Given the description of an element on the screen output the (x, y) to click on. 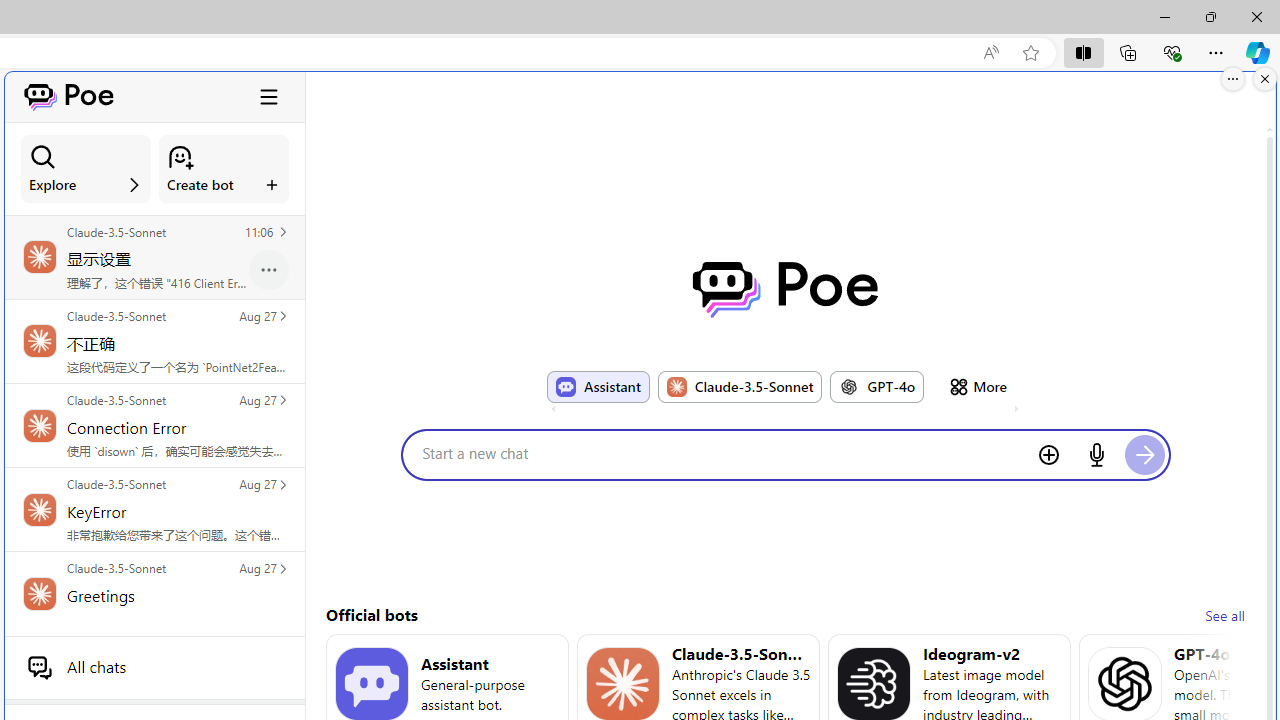
Explore (85, 169)
Class: ManageBotsCardSection_searchIcon__laGLi (43, 157)
Class: ManageBotsCardSection_labelIcon__EjW_j (271, 183)
Bot image for Assistant Assistant (598, 386)
Bot image for GPT-4o-Mini (1124, 683)
